Given the description of an element on the screen output the (x, y) to click on. 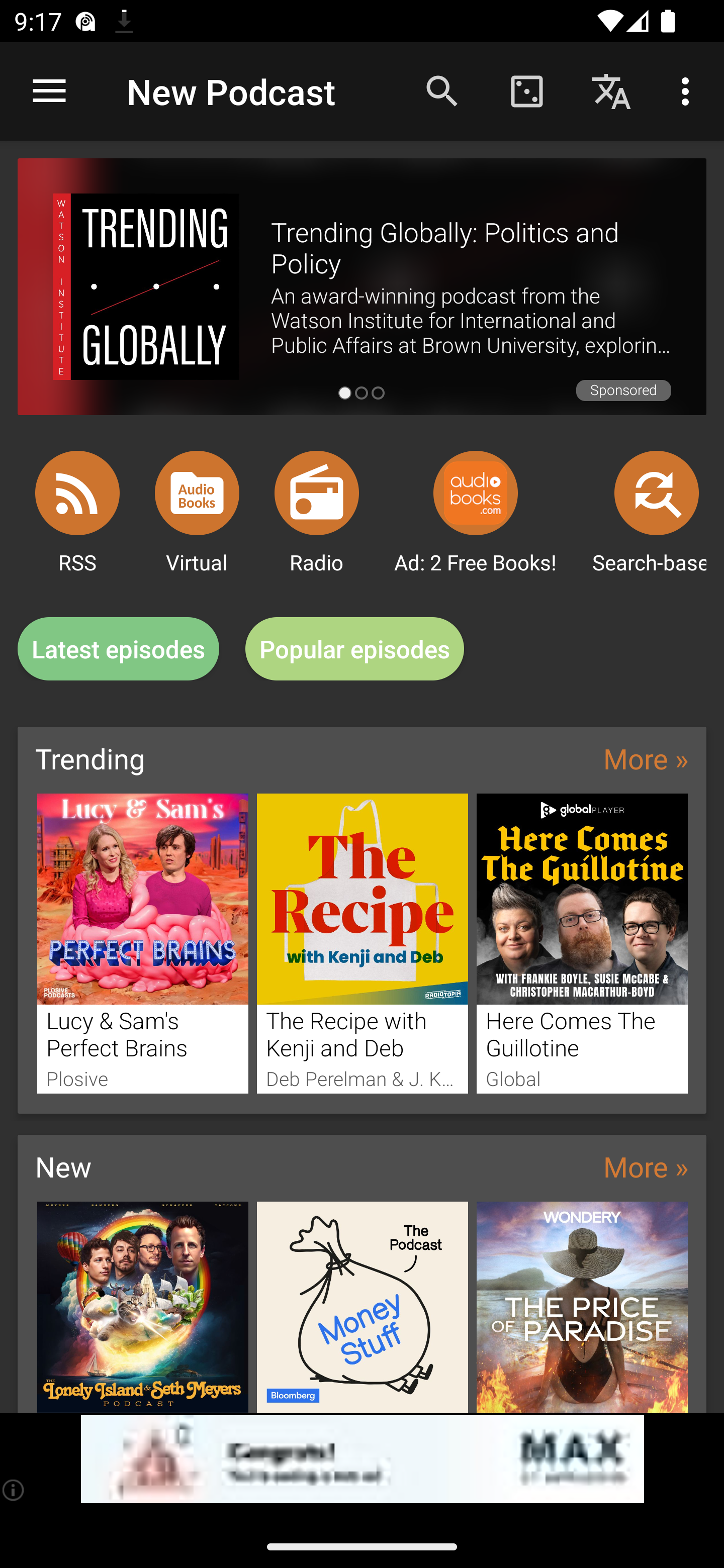
Open navigation sidebar (49, 91)
Search (442, 90)
Random pick (526, 90)
Podcast languages (611, 90)
More options (688, 90)
RSS (77, 492)
Virtual (196, 492)
Radio (316, 492)
Search-based (656, 492)
Latest episodes (118, 648)
Popular episodes (354, 648)
More » (645, 757)
Lucy & Sam's Perfect Brains Plosive (142, 942)
Here Comes The Guillotine Global (581, 942)
More » (645, 1166)
The Lonely Island and Seth Meyers Podcast (142, 1306)
Money Stuff: The Podcast (362, 1306)
The Price of Paradise (581, 1306)
app-monetization (362, 1459)
(i) (14, 1489)
